Given the description of an element on the screen output the (x, y) to click on. 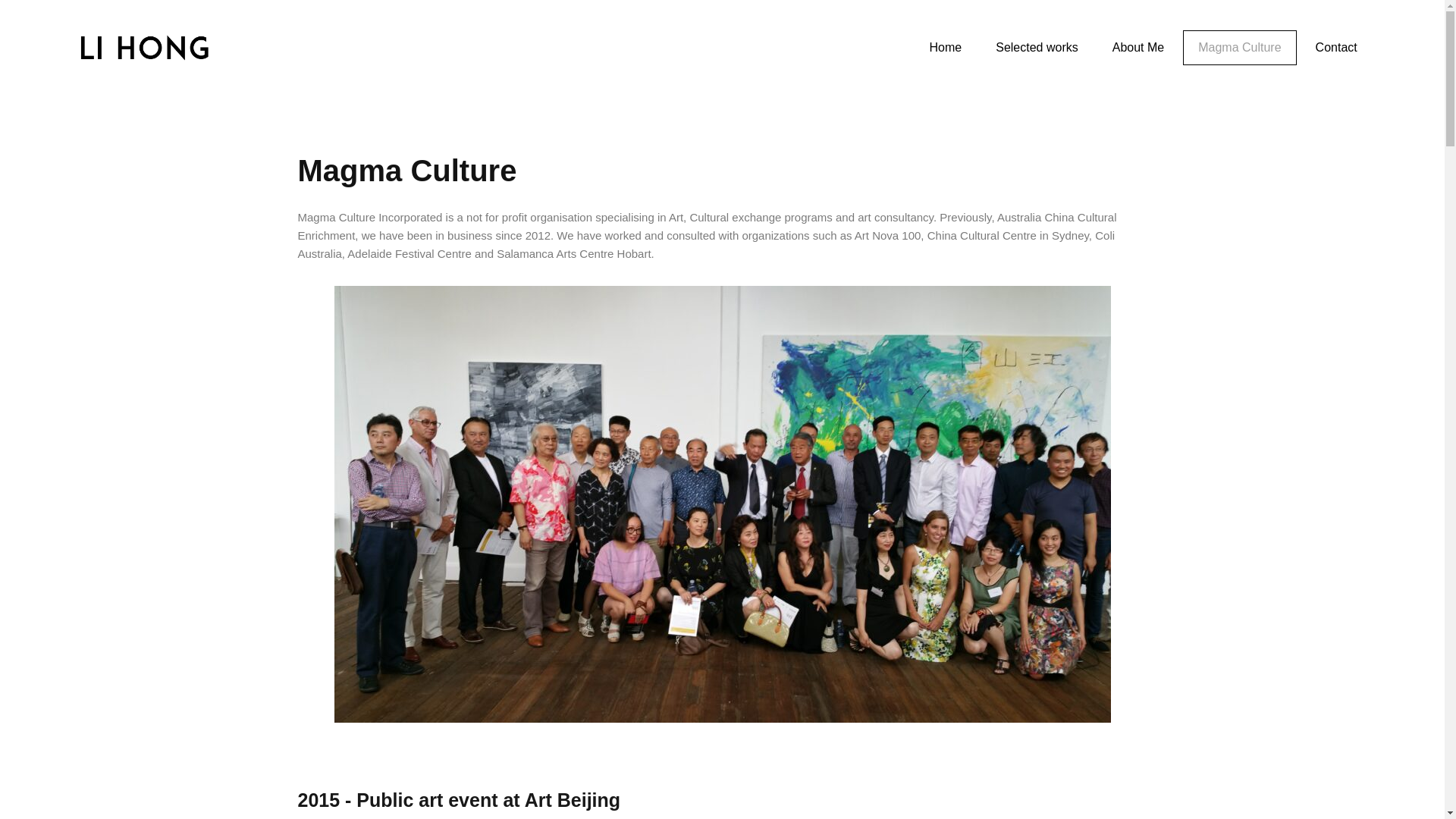
Contact (1336, 47)
About Me (1138, 47)
Magma Culture (1238, 47)
Home (945, 47)
Selected works (1036, 47)
